Given the description of an element on the screen output the (x, y) to click on. 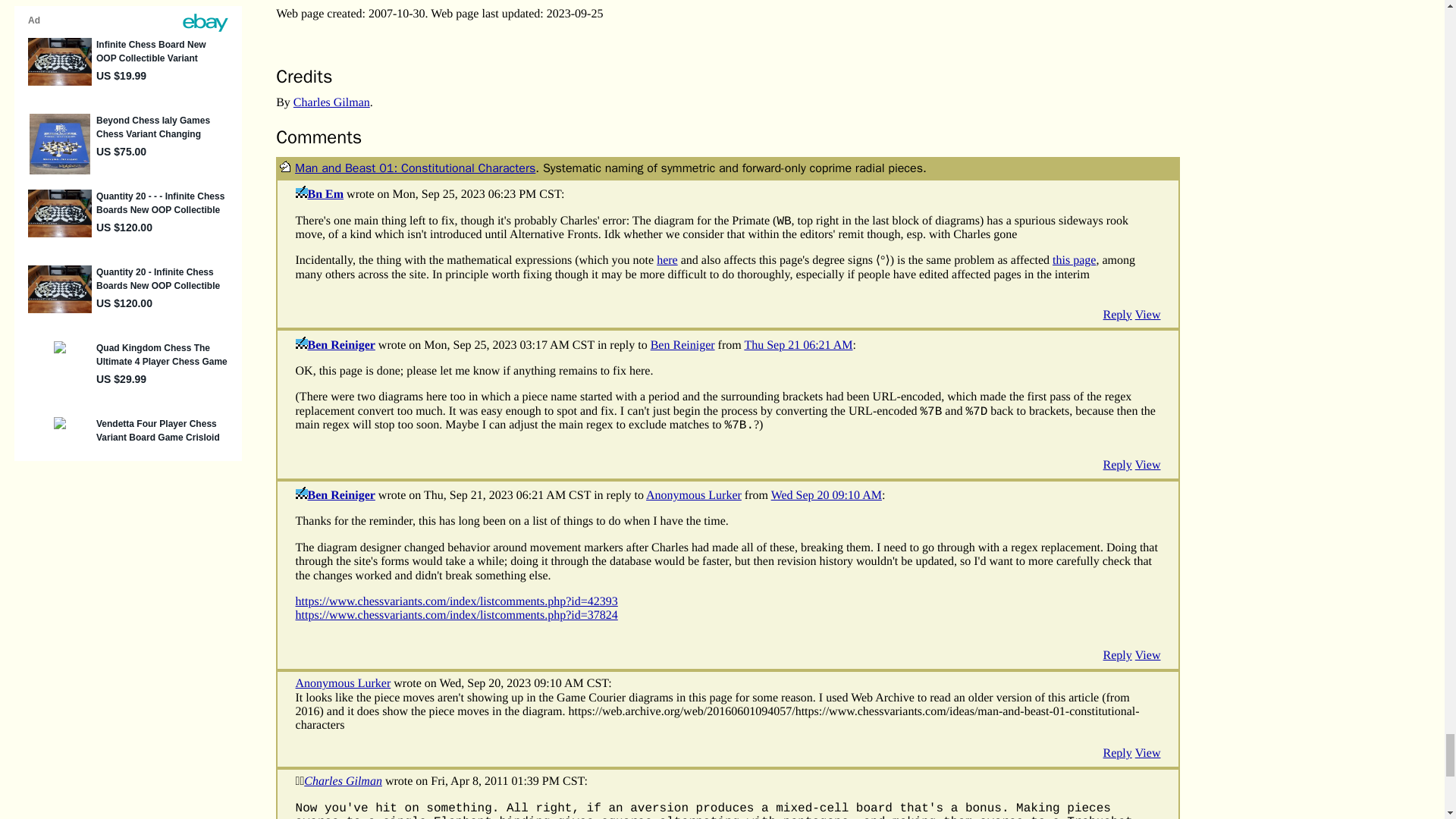
Author (285, 165)
Editor (301, 780)
Editor (301, 191)
Inventor (301, 492)
Editor (297, 780)
